Given the description of an element on the screen output the (x, y) to click on. 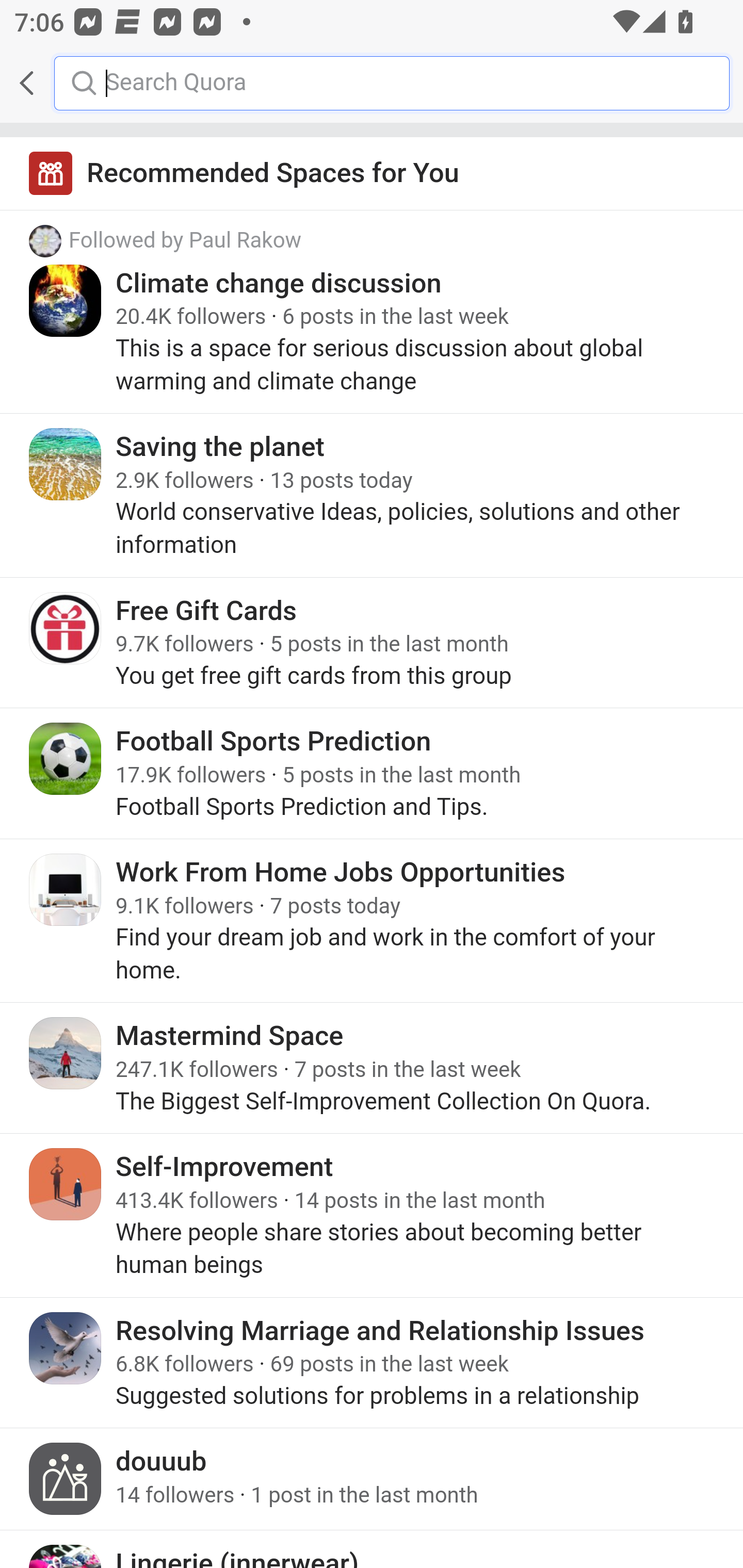
Me Home Search Add (371, 82)
Icon for Climate change discussion (65, 300)
Icon for Saving the planet (65, 464)
Icon for Free Gift Cards (65, 627)
Icon for Football Sports Prediction (65, 759)
Icon for Work From Home Jobs Opportunities (65, 889)
Icon for Mastermind Space (65, 1052)
Icon for Self-Improvement (65, 1184)
Icon for douuub (65, 1479)
